Given the description of an element on the screen output the (x, y) to click on. 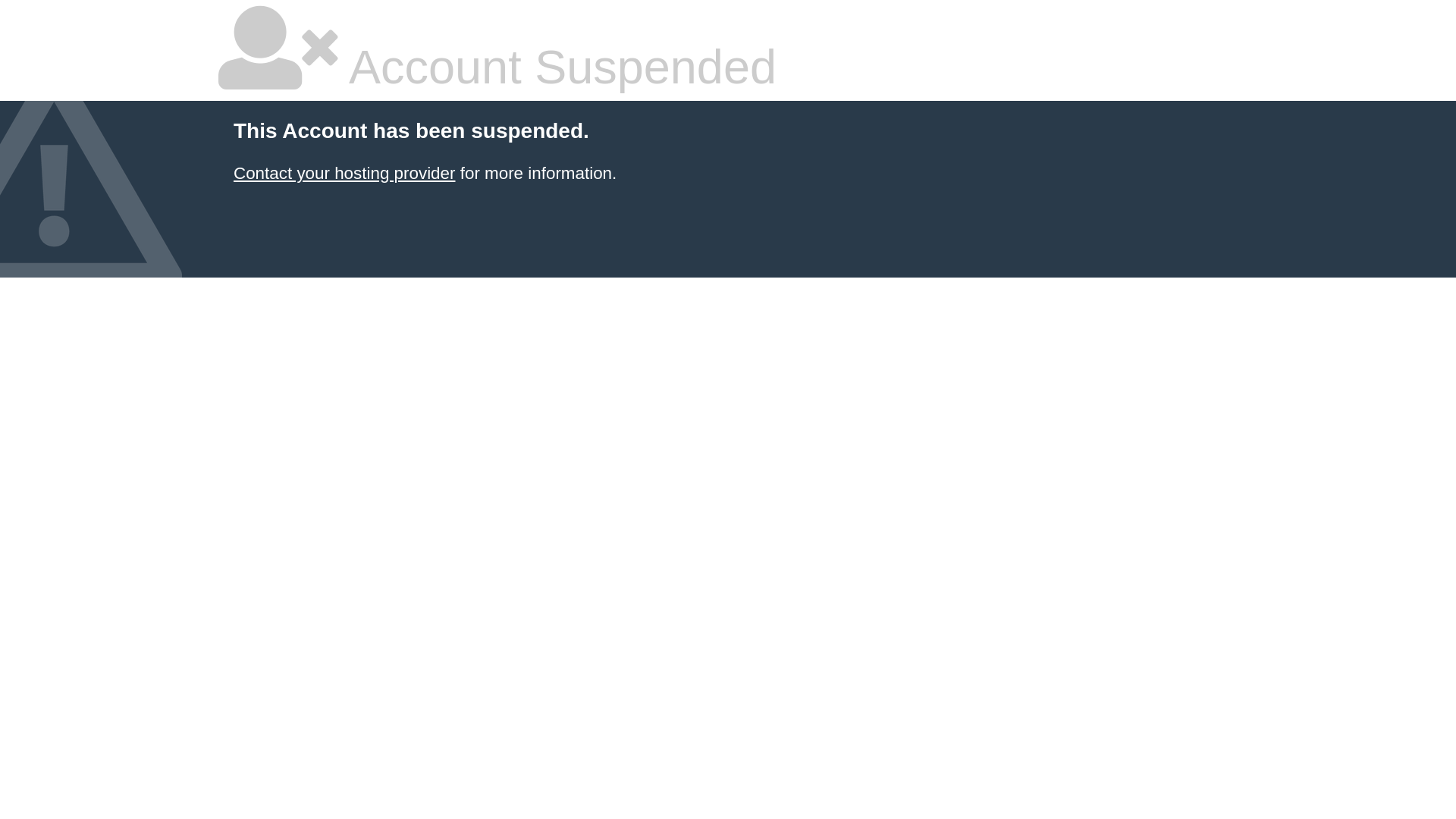
Contact your hosting provider Element type: text (344, 172)
